Given the description of an element on the screen output the (x, y) to click on. 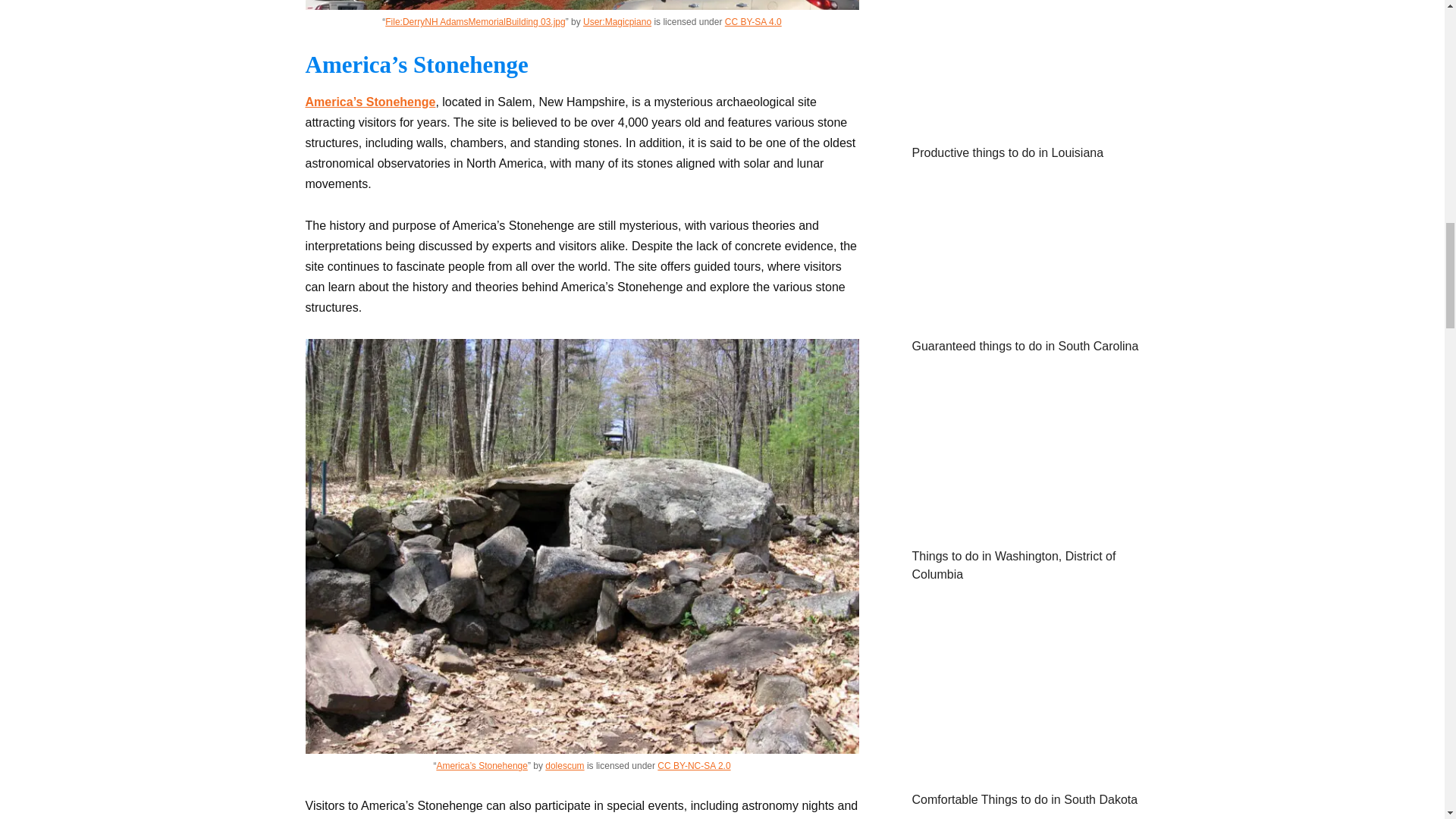
Productive things to do in Louisiana (1024, 122)
Guaranteed things to do in South Carolina (1024, 315)
Things to do in Derry, New Hampshire 2 (581, 4)
dolescum (563, 765)
User:Magicpiano (616, 21)
CC BY-NC-SA 2.0 (694, 765)
Productive things to do in Louisiana 20 (1024, 66)
File:DerryNH AdamsMemorialBuilding 03.jpg (474, 21)
CC BY-SA 4.0 (753, 21)
